Given the description of an element on the screen output the (x, y) to click on. 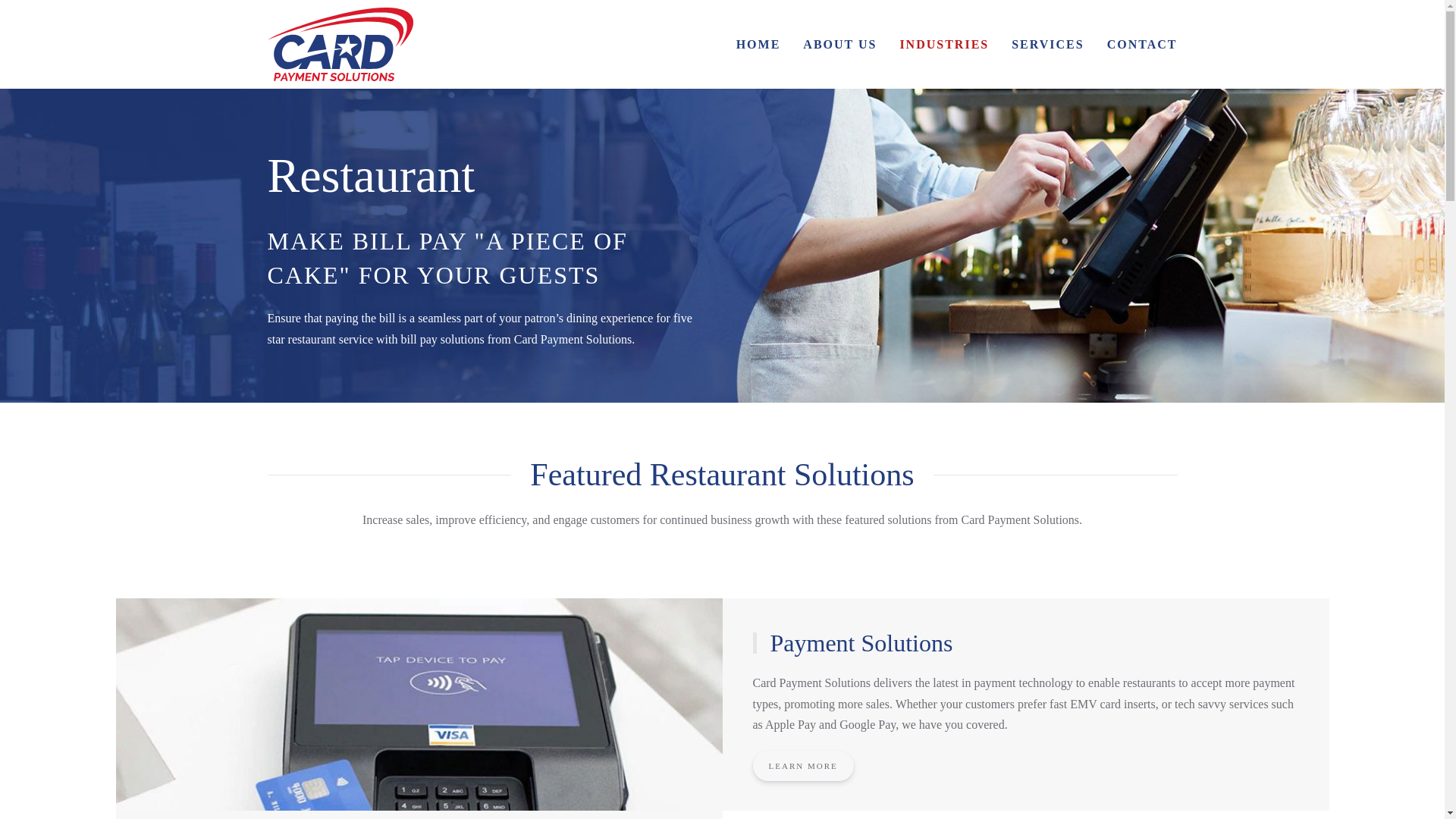
INDUSTRIES (944, 43)
ABOUT US (840, 43)
HOME (758, 43)
